Given the description of an element on the screen output the (x, y) to click on. 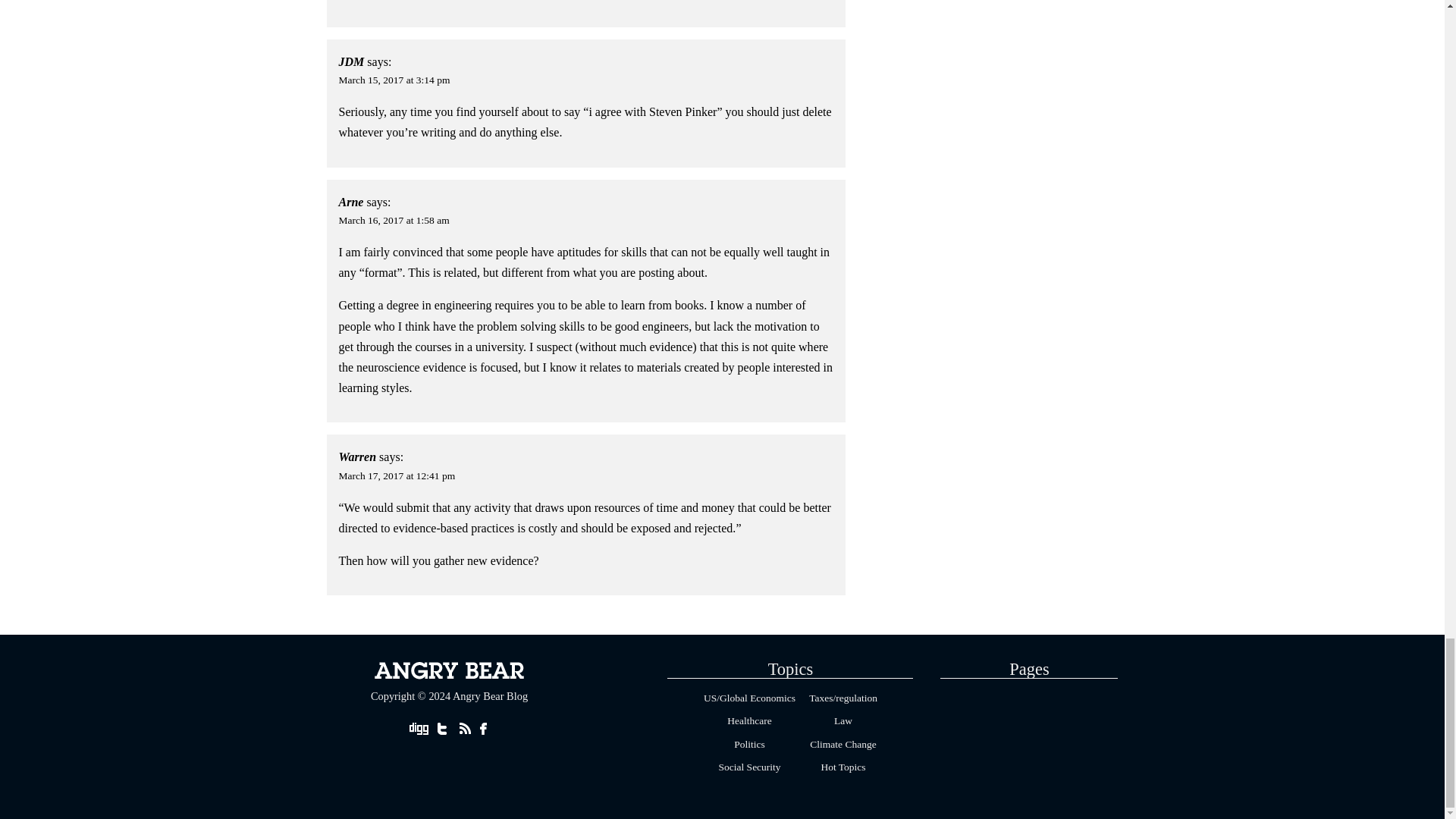
March 15, 2017 at 3:14 pm (394, 79)
March 16, 2017 at 1:58 am (394, 220)
March 17, 2017 at 12:41 pm (397, 475)
